Given the description of an element on the screen output the (x, y) to click on. 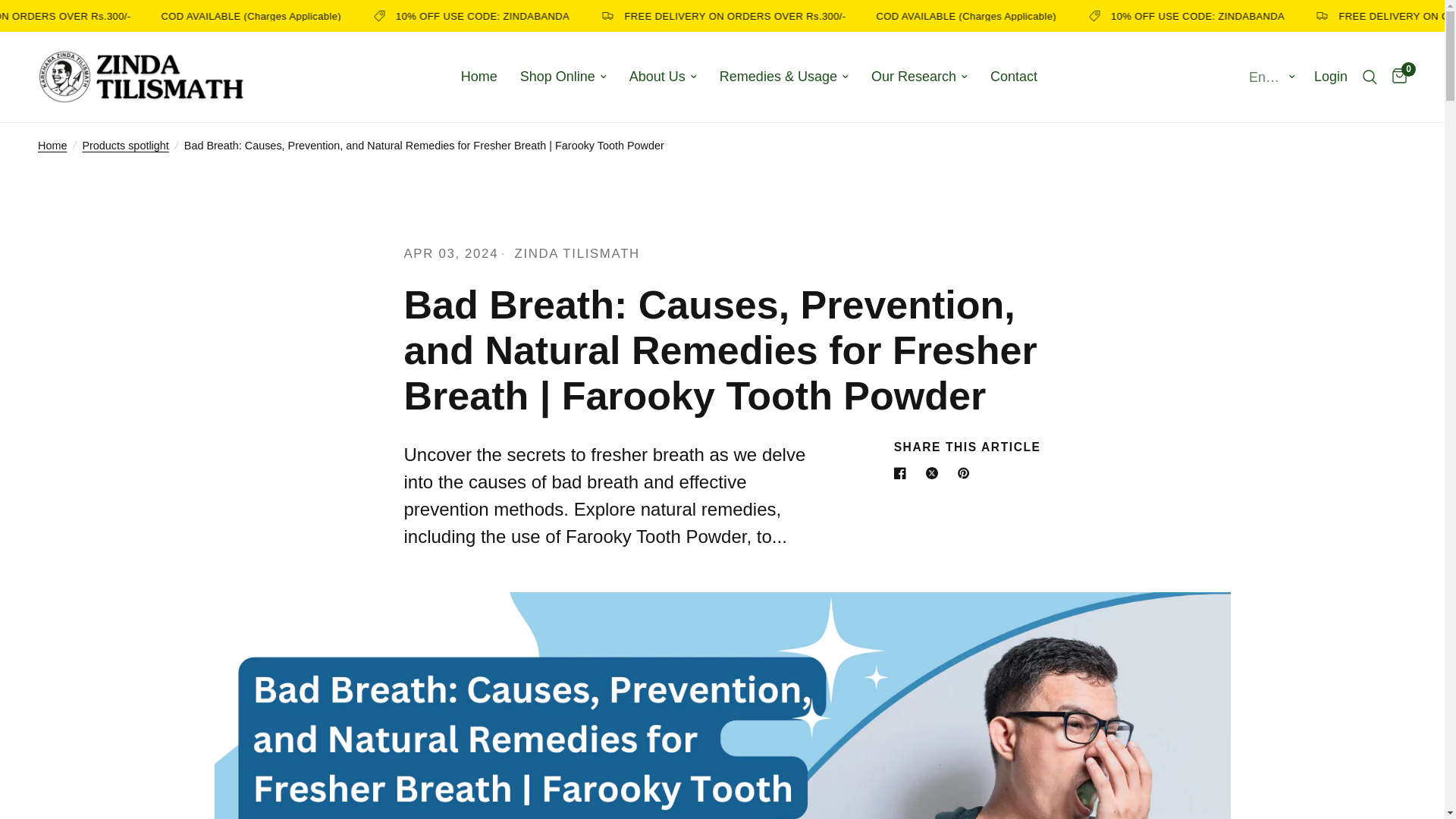
About Us (662, 76)
Contact (1013, 76)
Home (479, 76)
Home (479, 76)
Shop Online (563, 76)
Shop Online (563, 76)
Our Research (919, 76)
